Given the description of an element on the screen output the (x, y) to click on. 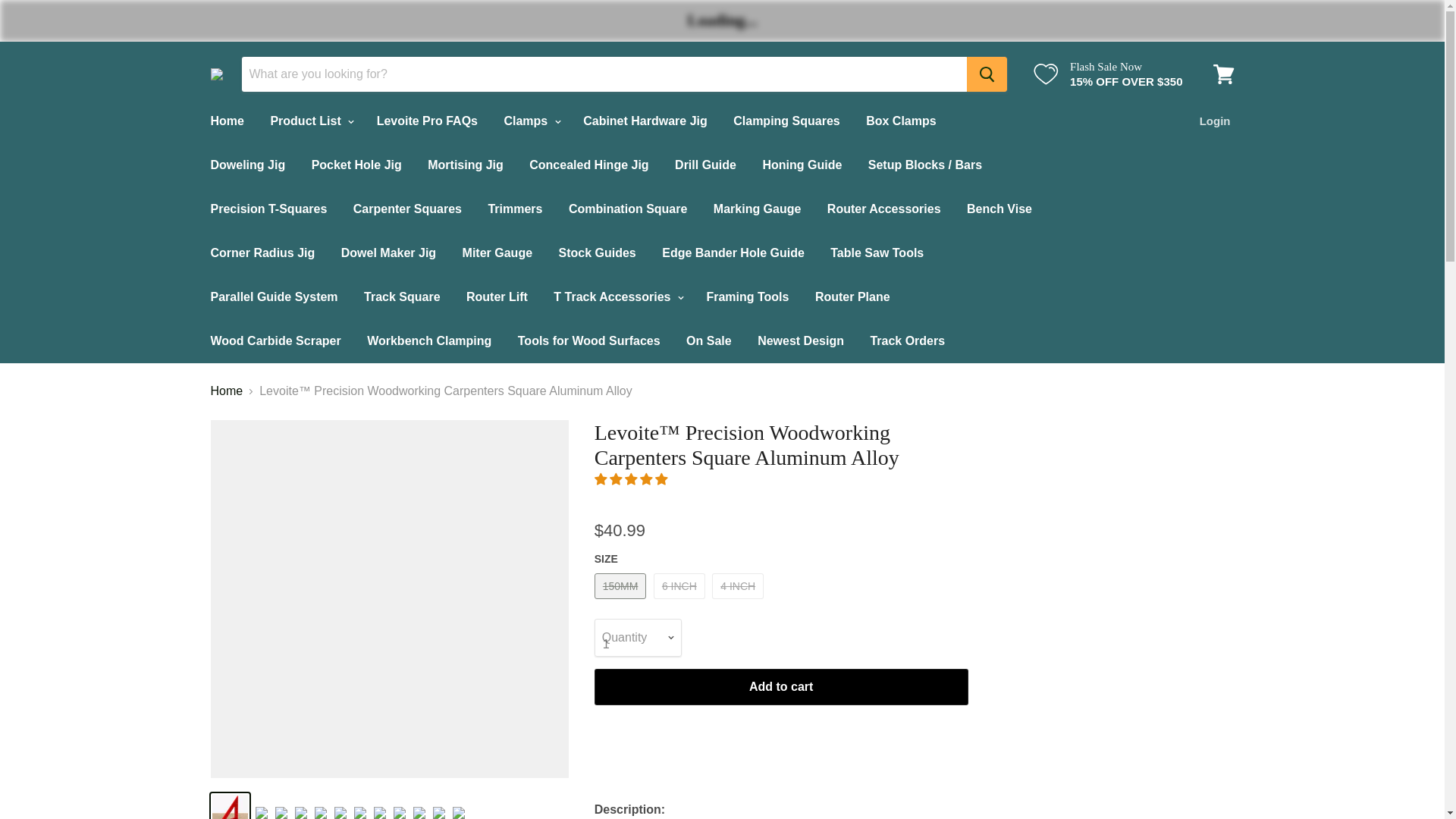
View cart (1223, 73)
Home (226, 121)
Product List (310, 121)
